Given the description of an element on the screen output the (x, y) to click on. 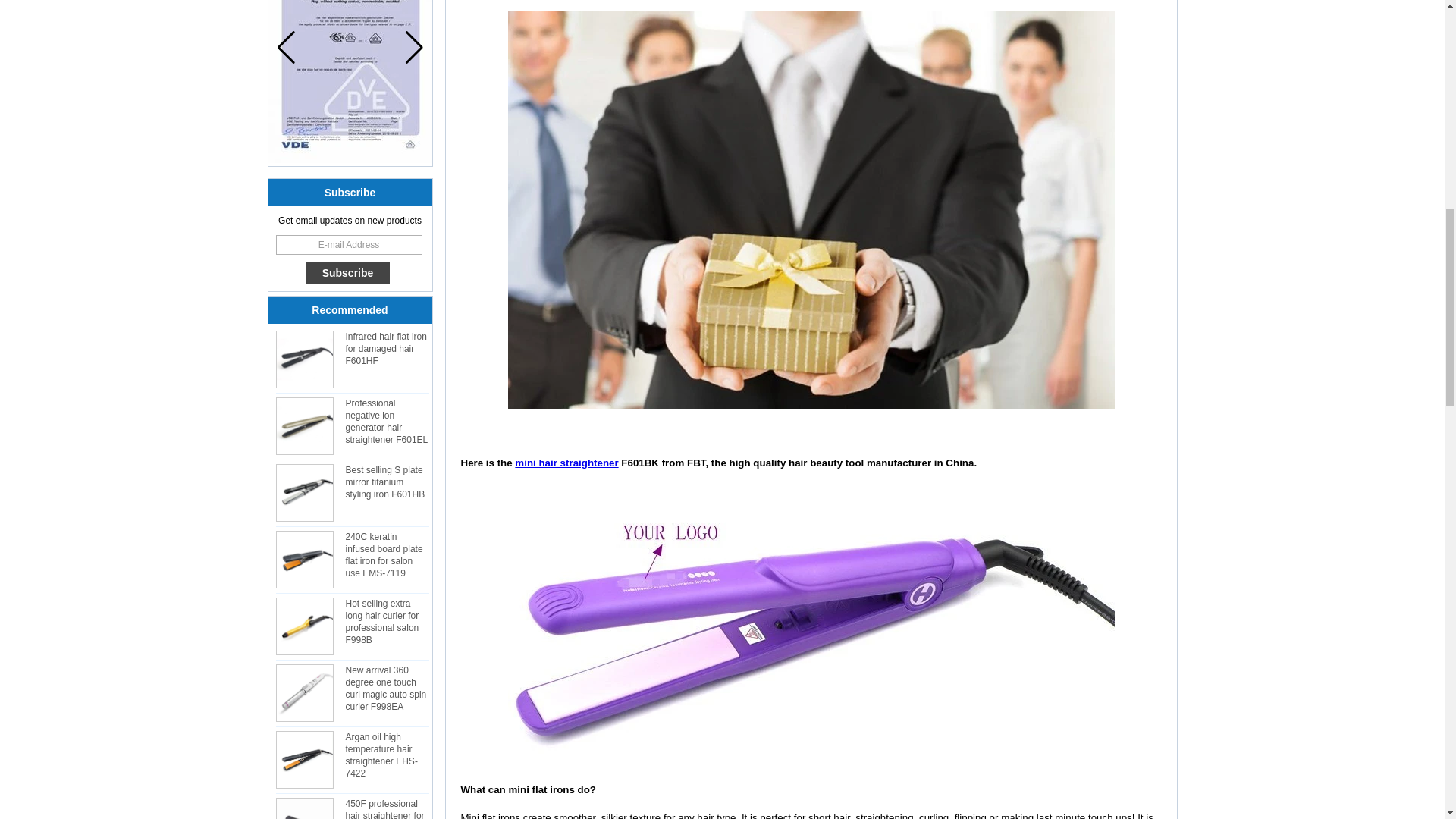
E-mail Address (349, 244)
certificate applied (349, 81)
Subscribe (347, 272)
